Given the description of an element on the screen output the (x, y) to click on. 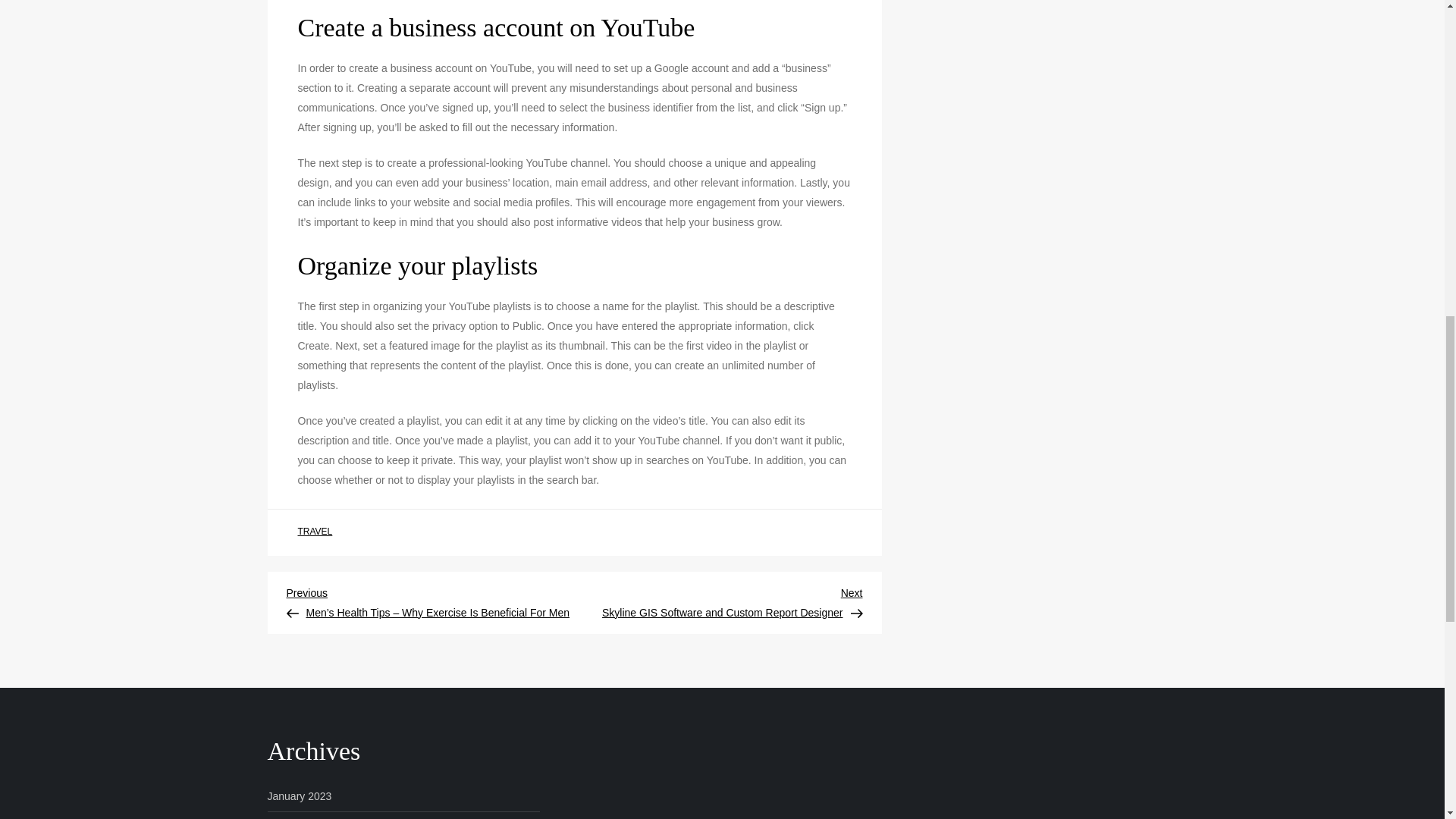
January 2023 (298, 795)
TRAVEL (314, 532)
December 2022 (304, 818)
